Given the description of an element on the screen output the (x, y) to click on. 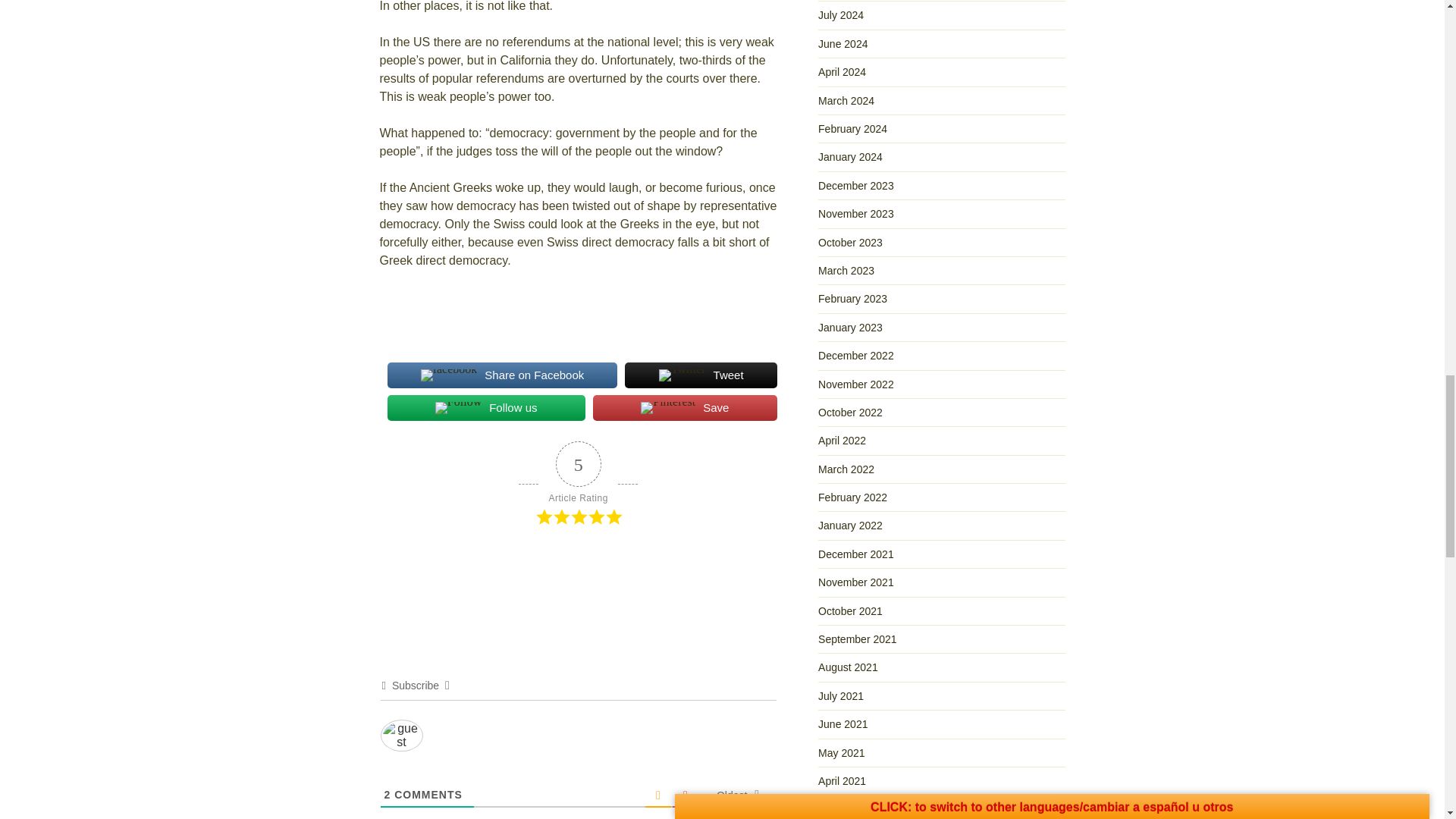
Save (684, 407)
Follow us (486, 407)
Tweet (700, 375)
Share on Facebook (502, 375)
